Given the description of an element on the screen output the (x, y) to click on. 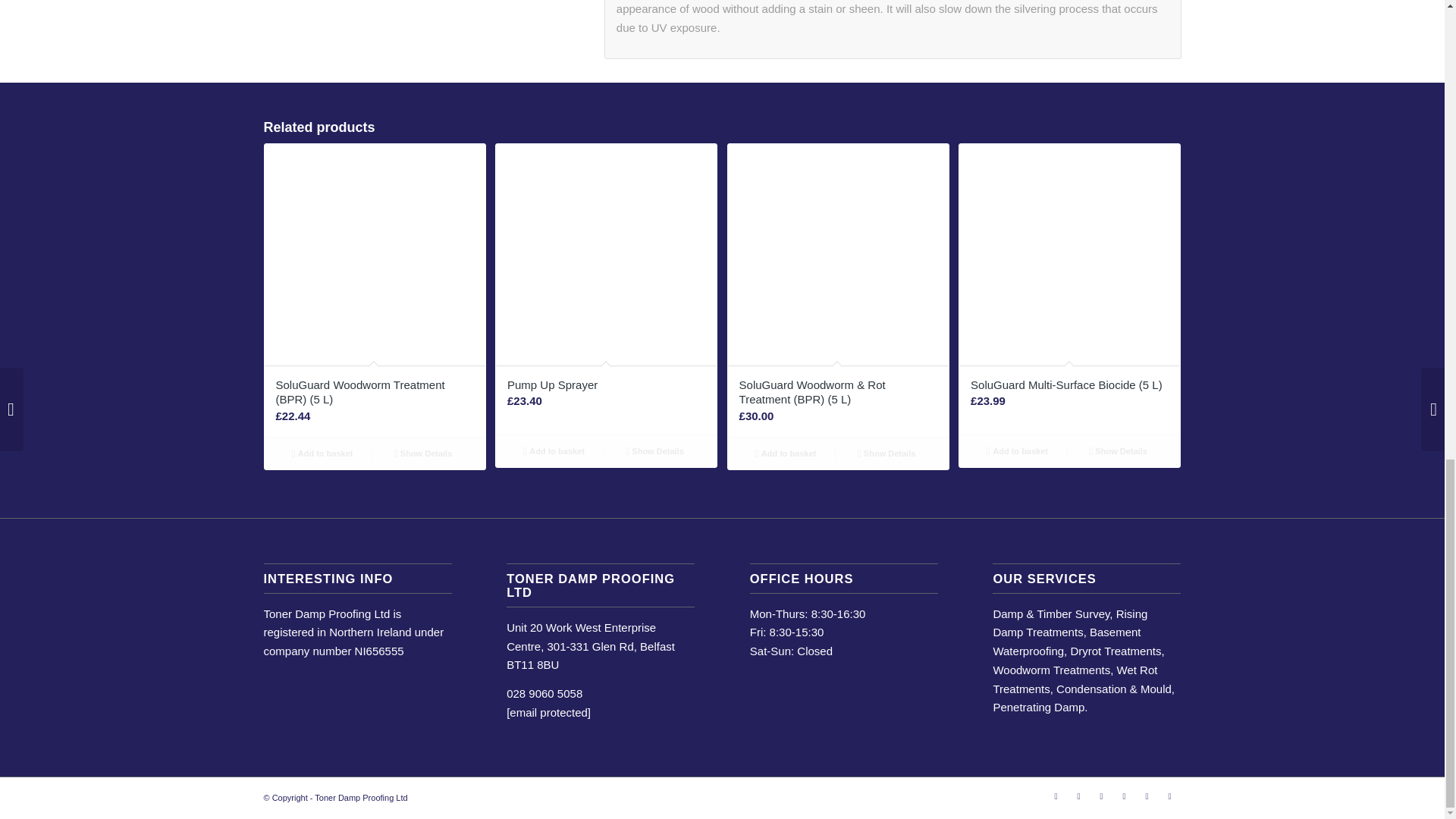
Add to basket (321, 453)
Show Details (422, 453)
Add to basket (553, 451)
Show Details (654, 451)
Facebook (1056, 795)
